Given the description of an element on the screen output the (x, y) to click on. 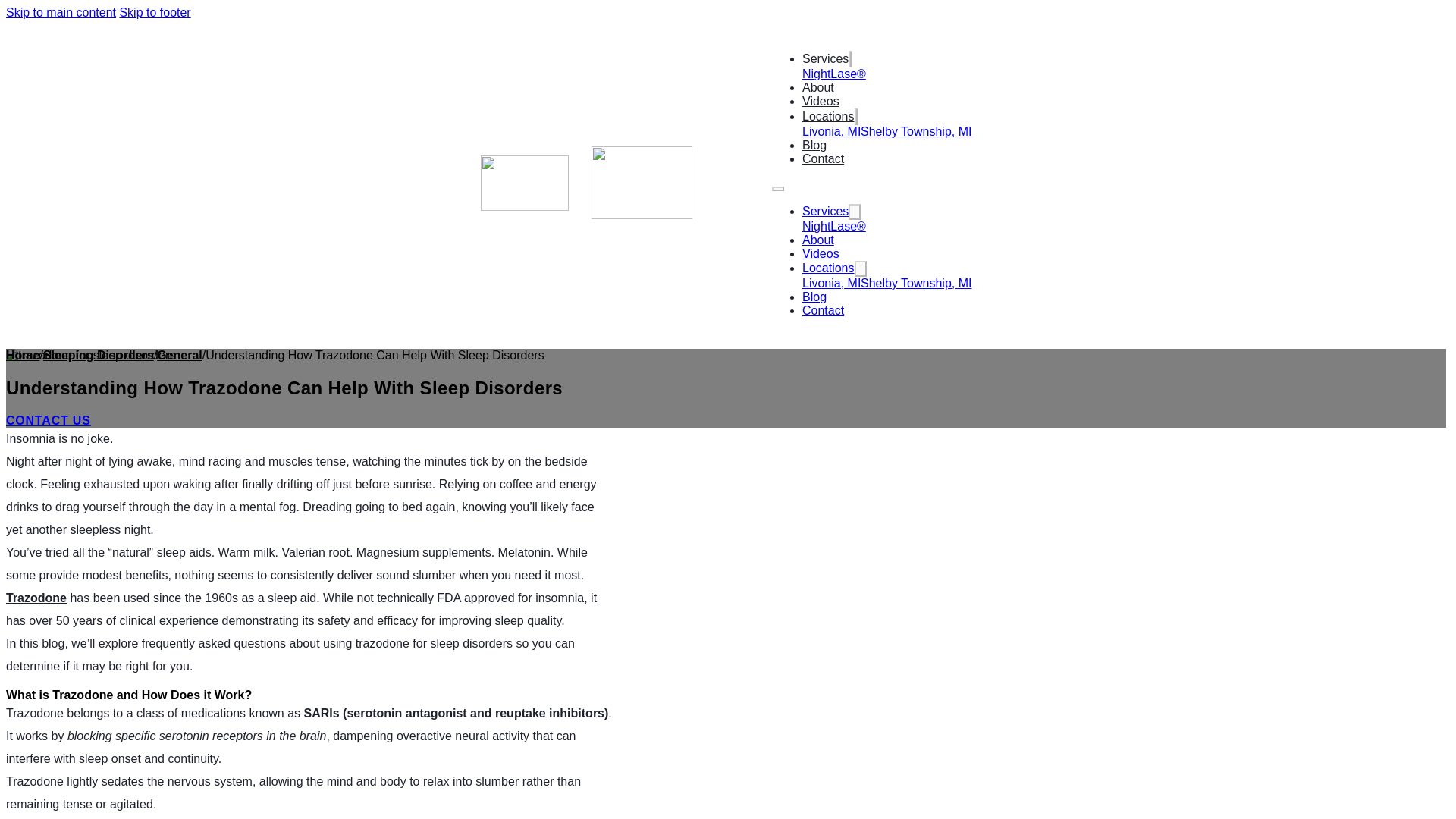
Services (825, 210)
Trazodone (35, 597)
Locations (828, 267)
Contact (823, 309)
Blog (814, 296)
Sleeping Disorders (98, 354)
Shelby Township, MI (915, 283)
Videos (821, 253)
Skip to footer (154, 11)
Blog (814, 145)
Livonia, MI (831, 131)
General (179, 354)
Home (22, 354)
Shelby Township, MI (915, 131)
Contact (823, 158)
